Given the description of an element on the screen output the (x, y) to click on. 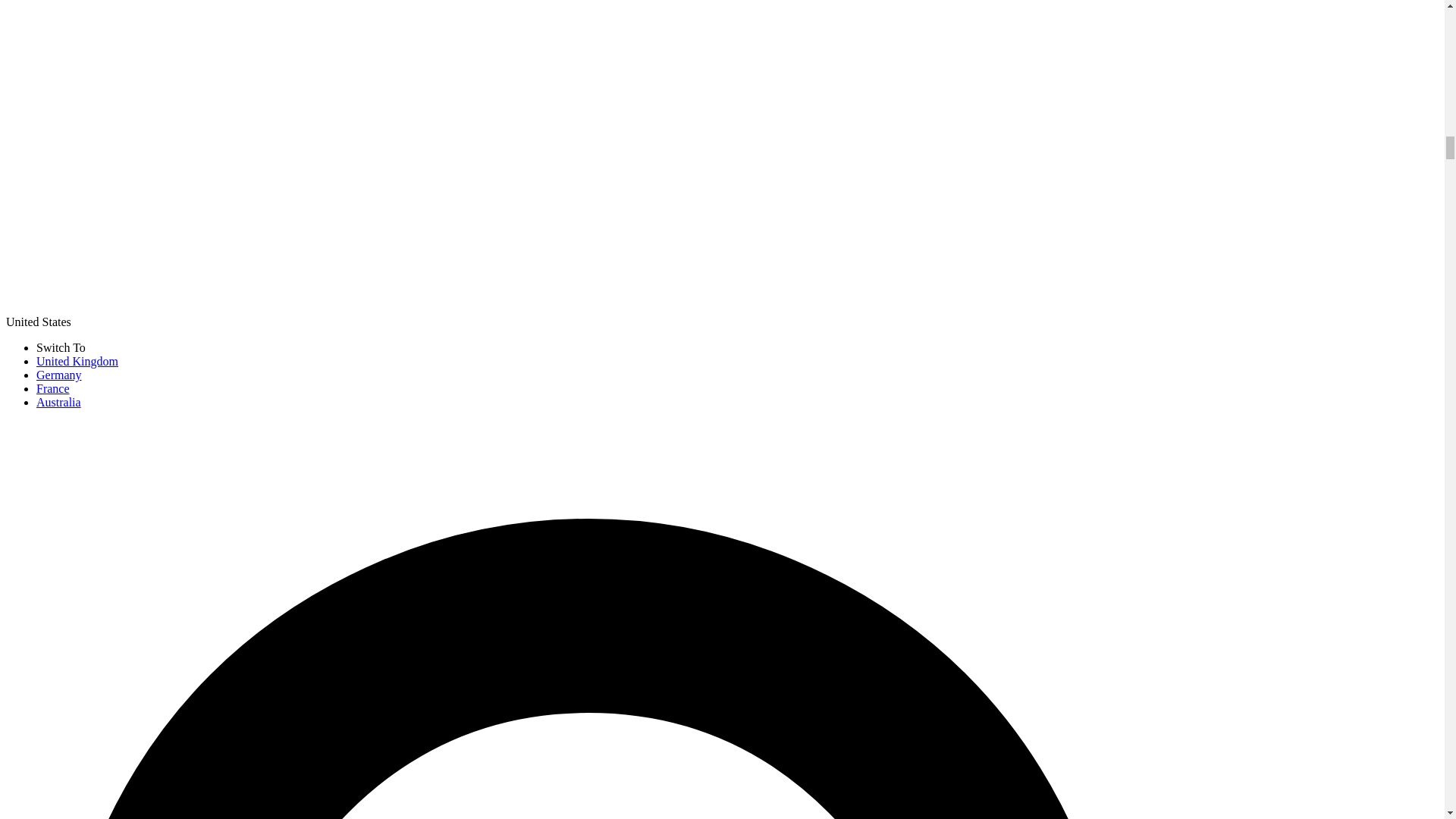
Australia (58, 401)
United Kingdom (76, 360)
Germany (58, 374)
France (52, 388)
